Given the description of an element on the screen output the (x, y) to click on. 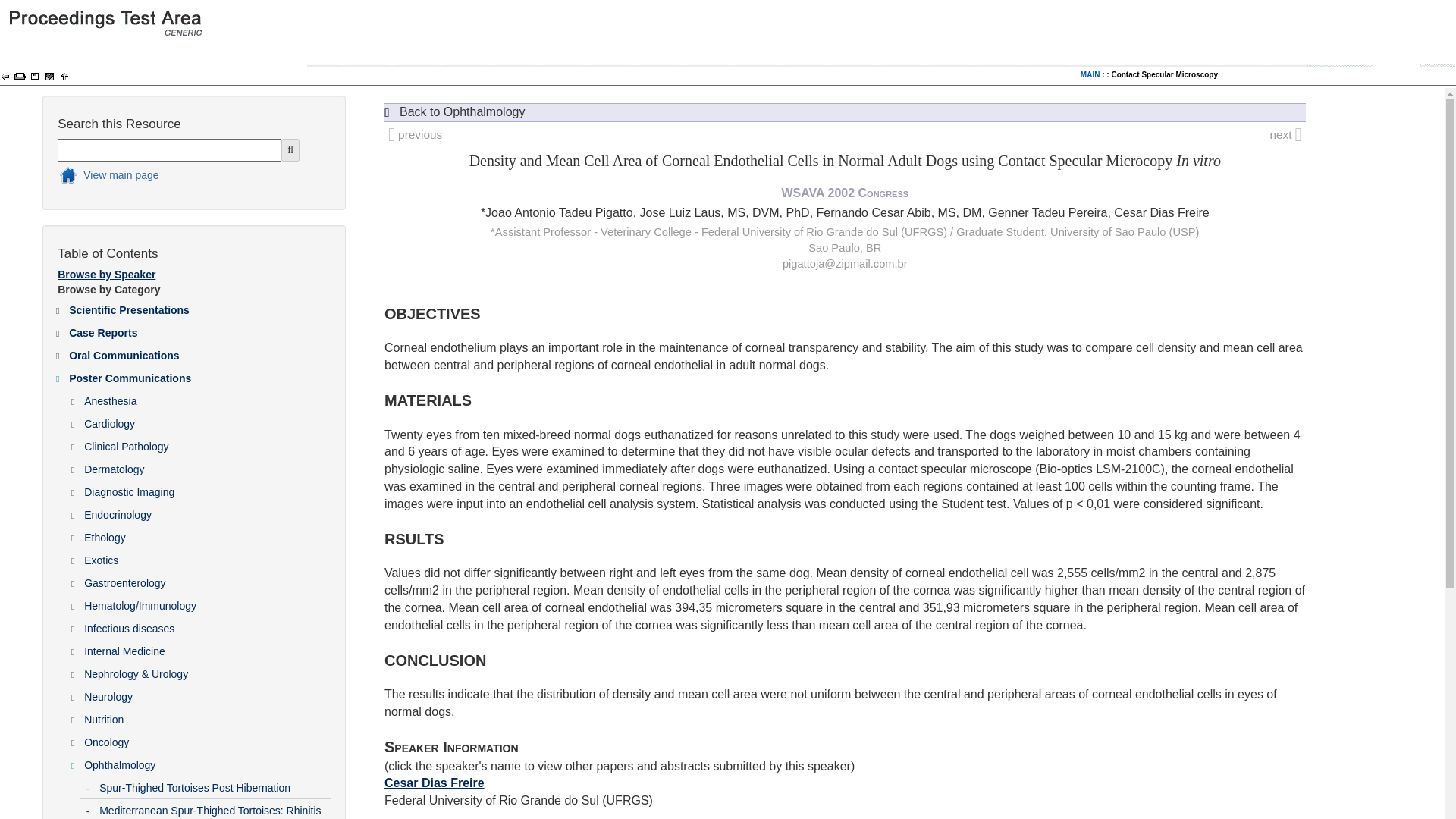
Case Reports (198, 330)
Home (180, 177)
Scientific Presentations (198, 307)
Poster Communications (198, 375)
Browse by Speaker (106, 274)
View main page (180, 177)
MAIN (1090, 74)
Oral Communications (198, 352)
Anesthesia (206, 398)
